Given the description of an element on the screen output the (x, y) to click on. 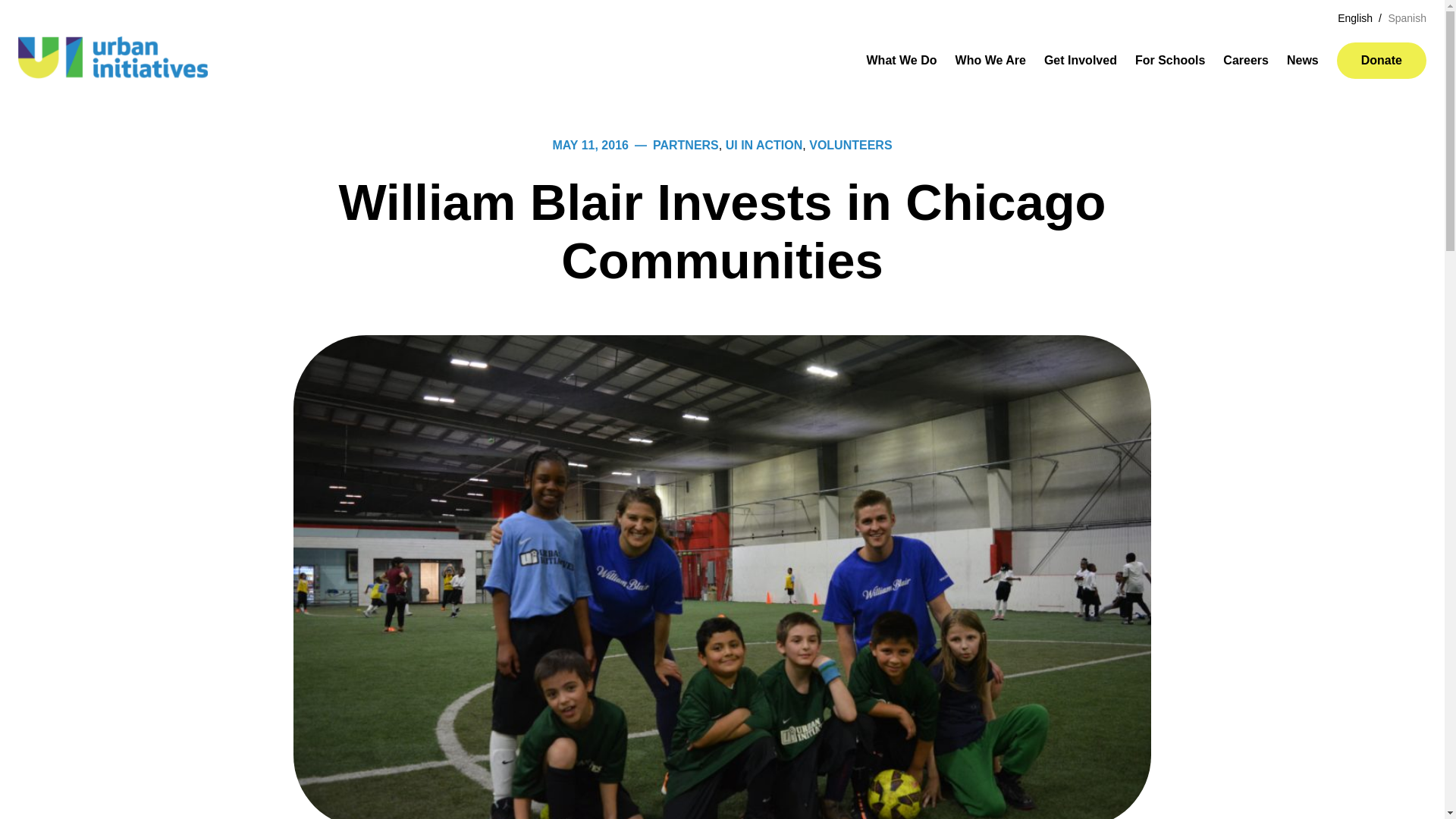
UI IN ACTION (764, 144)
Get Involved (1079, 60)
PARTNERS (685, 144)
What We Do (901, 60)
For Schools (1170, 60)
English (1361, 18)
Who We Are (990, 60)
News (1303, 60)
VOLUNTEERS (850, 144)
Spanish (1406, 18)
